Given the description of an element on the screen output the (x, y) to click on. 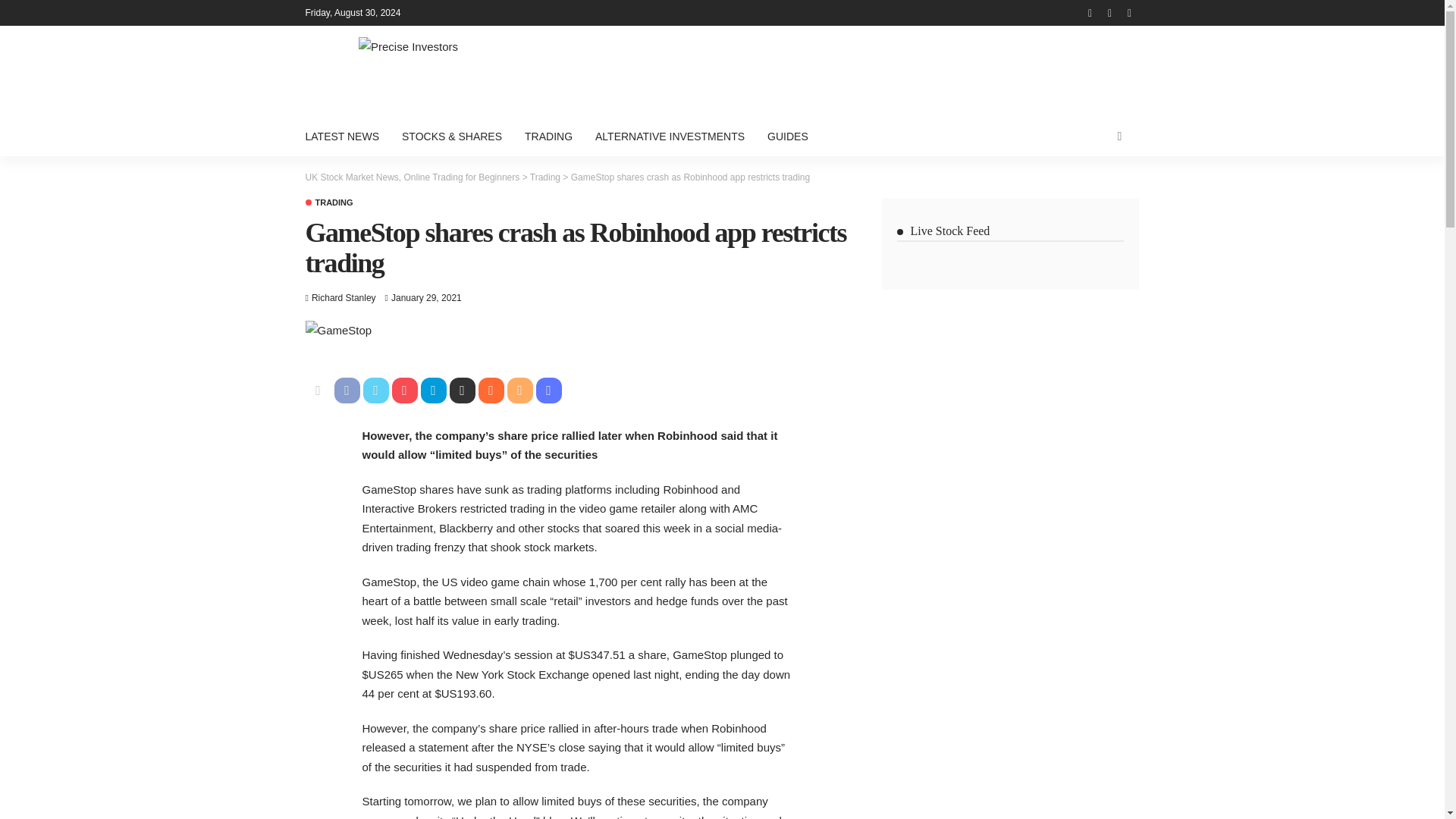
Go to UK Stock Market News, Online Trading for Beginners. (411, 176)
UK Stock Market News, Online Trading for Beginners (411, 176)
search (1118, 136)
ALTERNATIVE INVESTMENTS (669, 136)
TRADING (328, 203)
LATEST NEWS (347, 136)
TRADING (548, 136)
Trading (544, 176)
GUIDES (787, 136)
Go to the Trading Category archives. (544, 176)
